Given the description of an element on the screen output the (x, y) to click on. 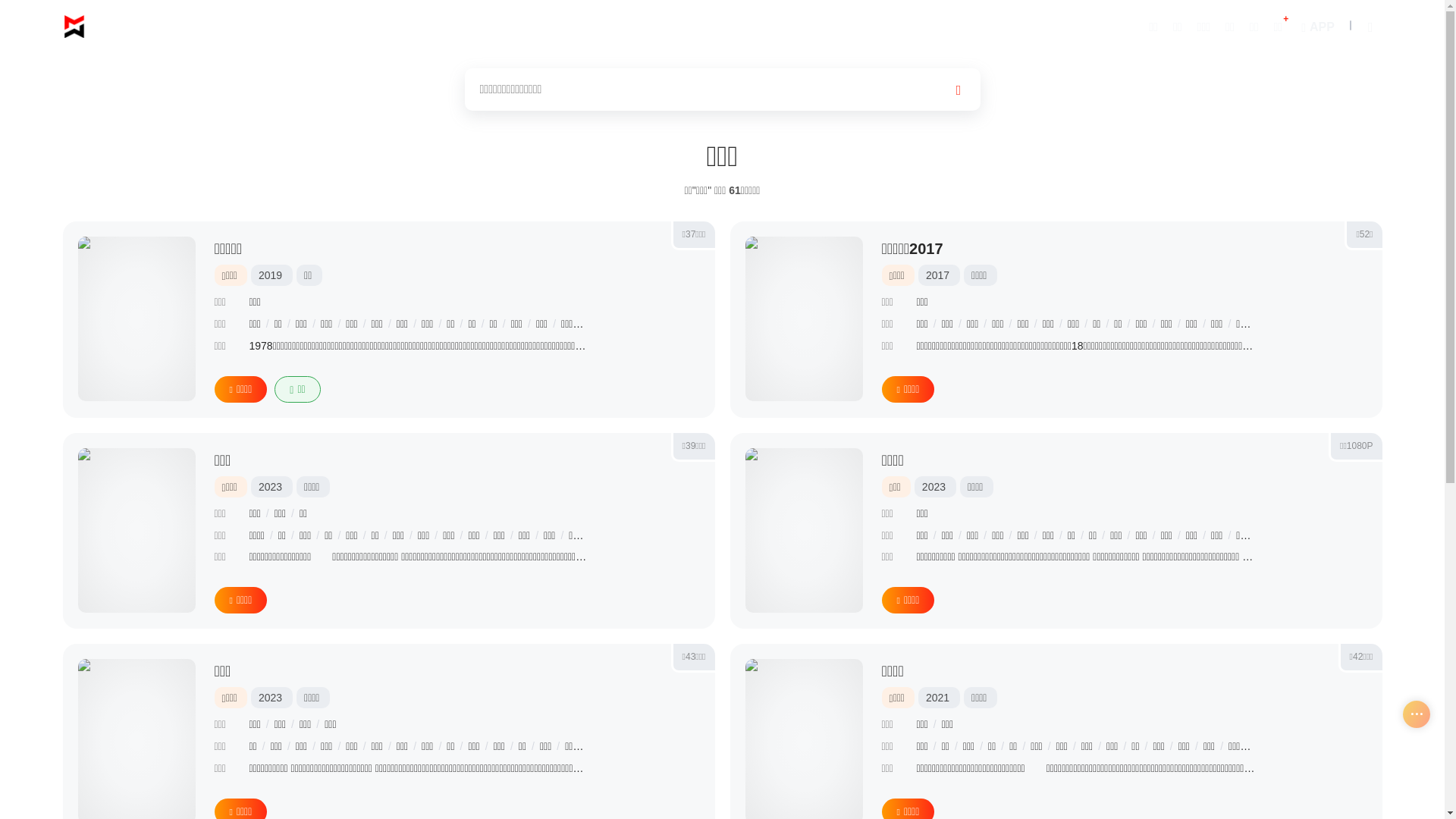
2023 Element type: text (270, 486)
2023 Element type: text (270, 697)
2023 Element type: text (933, 486)
APP Element type: text (1315, 26)
2021 Element type: text (937, 697)
2017 Element type: text (937, 275)
2019 Element type: text (270, 275)
